Given the description of an element on the screen output the (x, y) to click on. 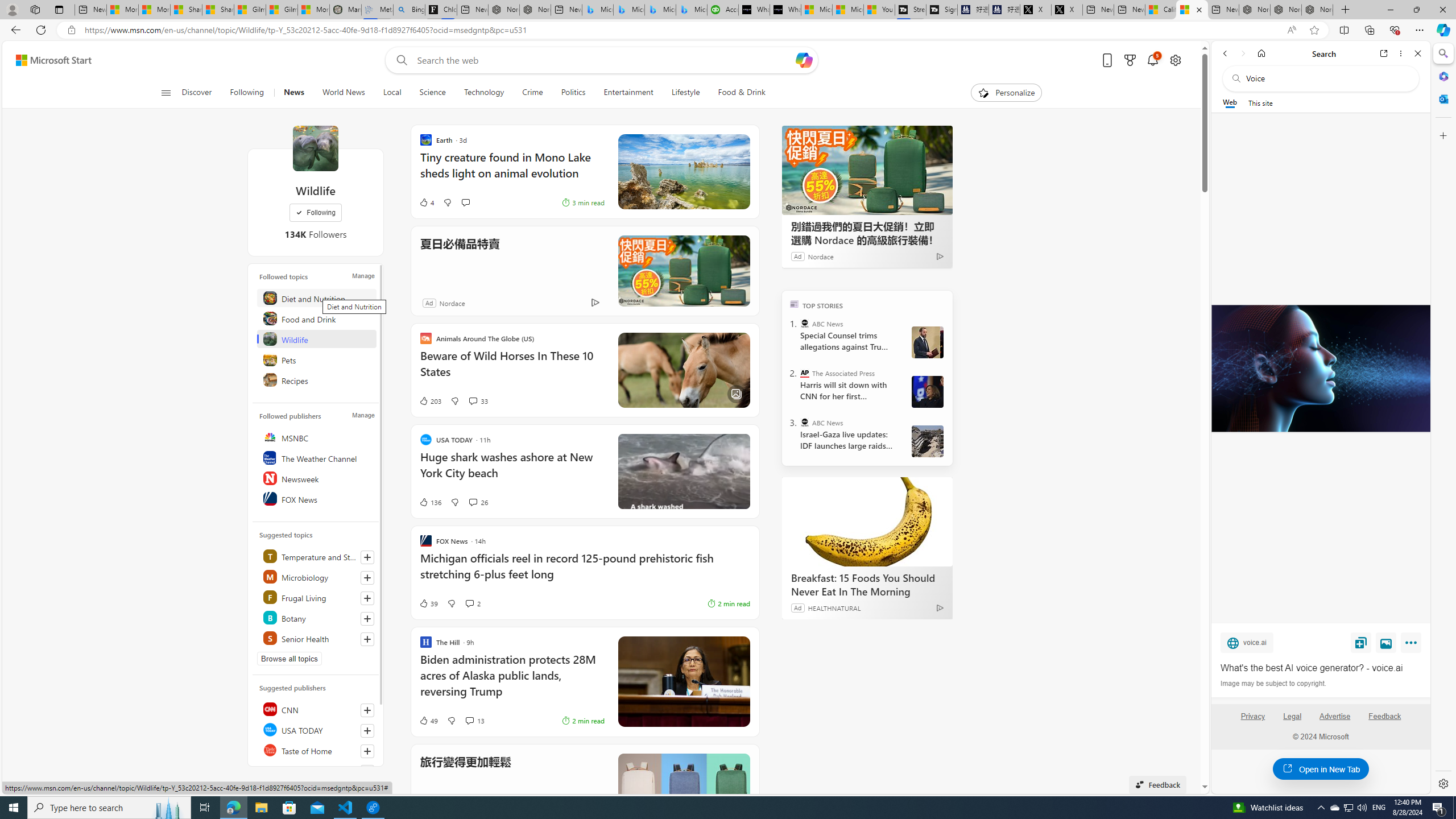
Entertainment (628, 92)
Forward (1242, 53)
Side bar (1443, 418)
Search the web (1326, 78)
